Given the description of an element on the screen output the (x, y) to click on. 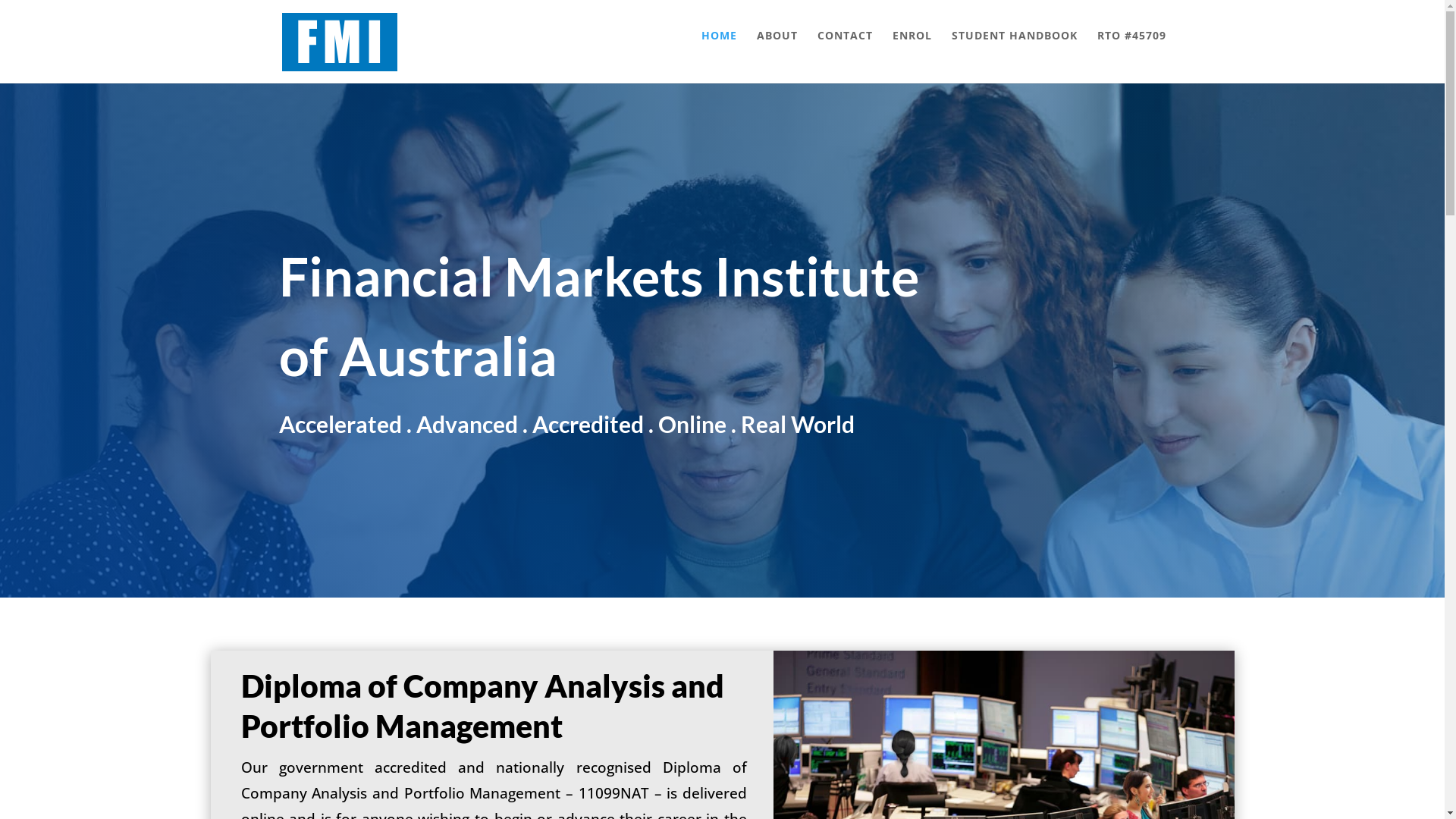
RTO #45709 Element type: text (1130, 50)
CONTACT Element type: text (844, 50)
HOME Element type: text (718, 50)
ABOUT Element type: text (776, 50)
ENROL Element type: text (911, 50)
STUDENT HANDBOOK Element type: text (1013, 50)
